Given the description of an element on the screen output the (x, y) to click on. 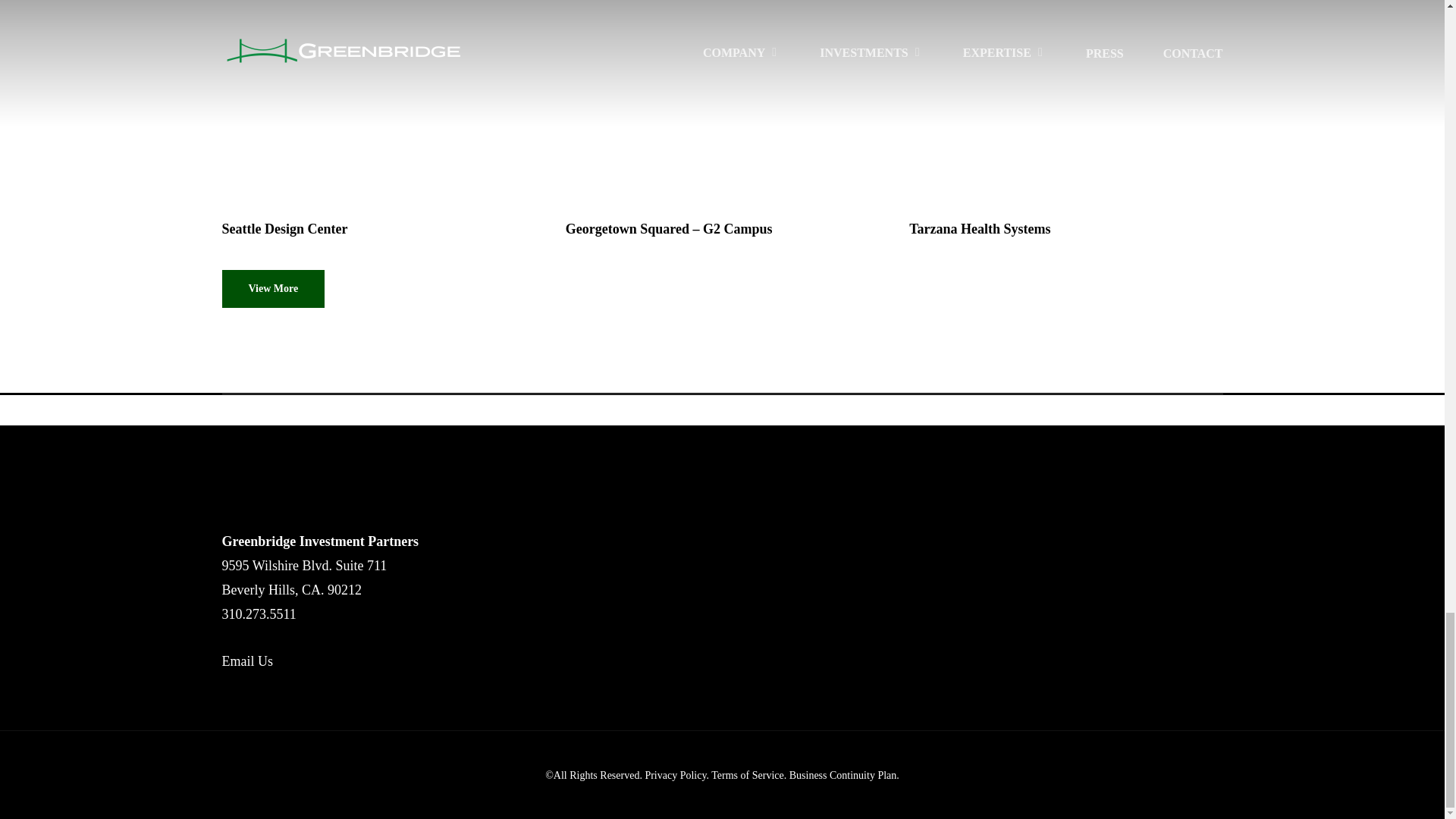
Email Us (247, 661)
310.273.5511 (258, 613)
Privacy Policy (675, 775)
View More (272, 288)
